Given the description of an element on the screen output the (x, y) to click on. 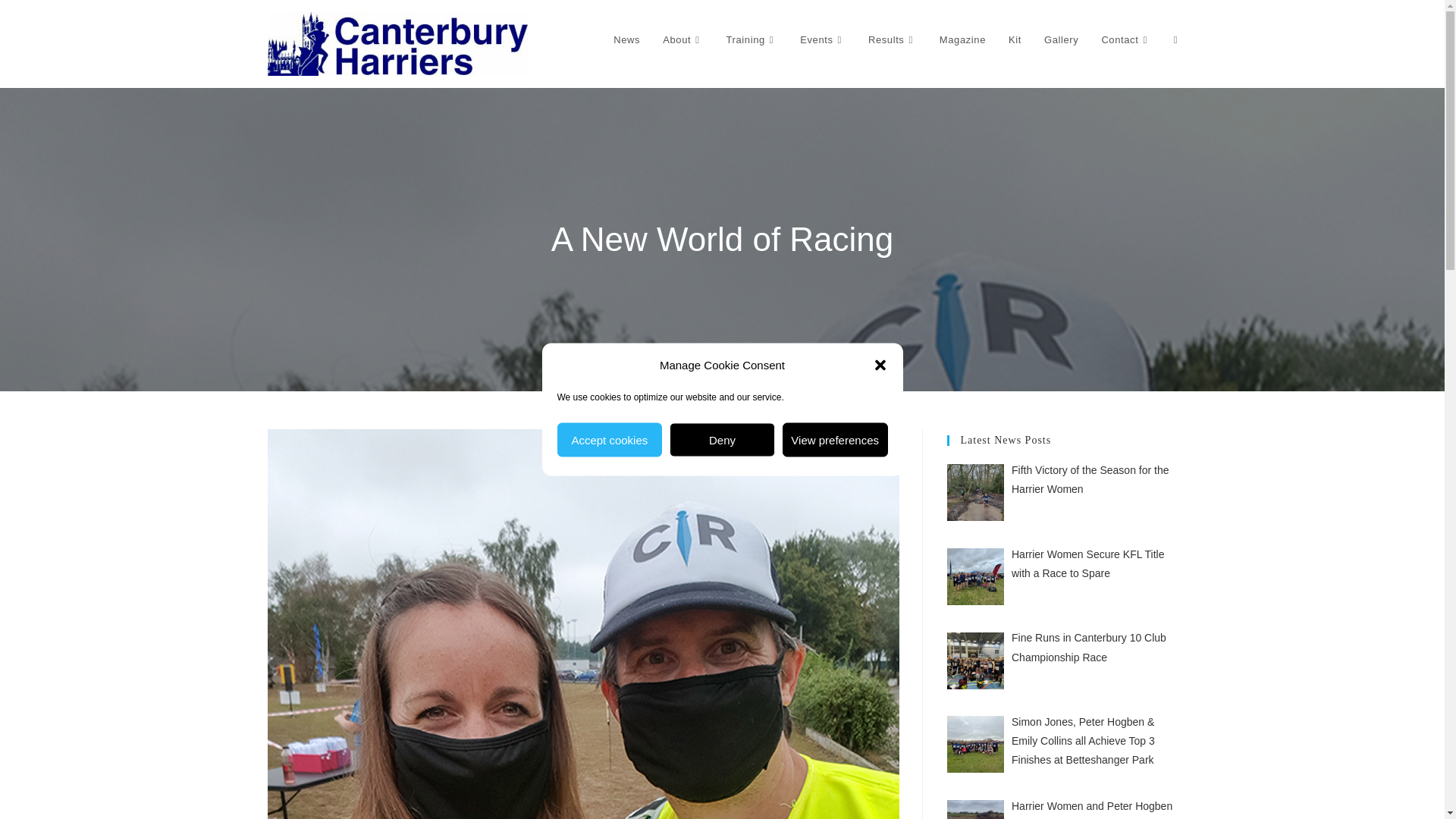
View preferences (835, 440)
Deny (721, 440)
About (682, 39)
Training (751, 39)
Accept cookies (609, 440)
Results (892, 39)
Events (823, 39)
